Given the description of an element on the screen output the (x, y) to click on. 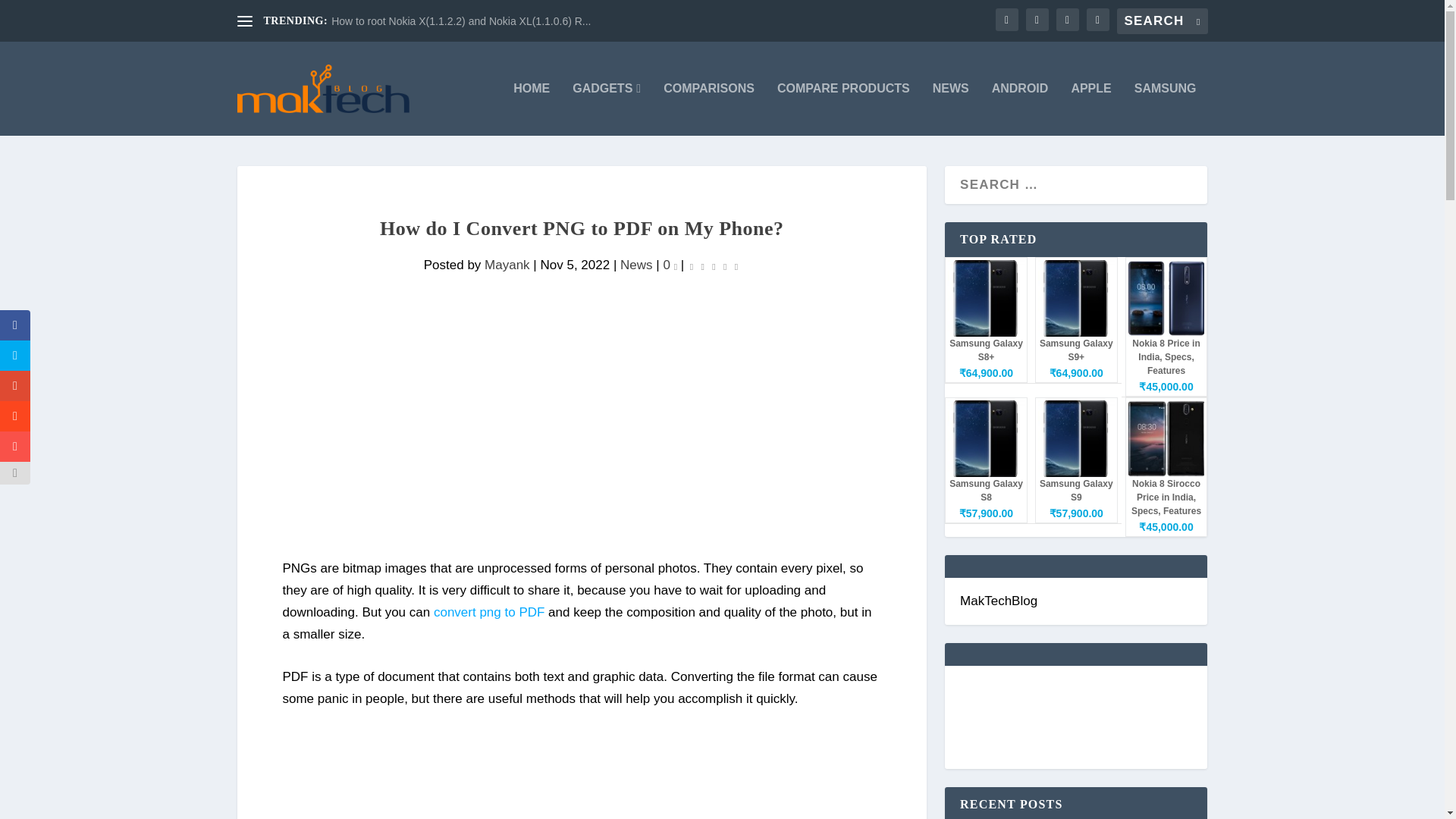
Compare (843, 108)
Advertisement (581, 775)
Posts by Mayank (506, 264)
Search for: (1161, 21)
Rating: 0.00 (713, 265)
Advertisement (581, 451)
GADGETS (606, 108)
